Given the description of an element on the screen output the (x, y) to click on. 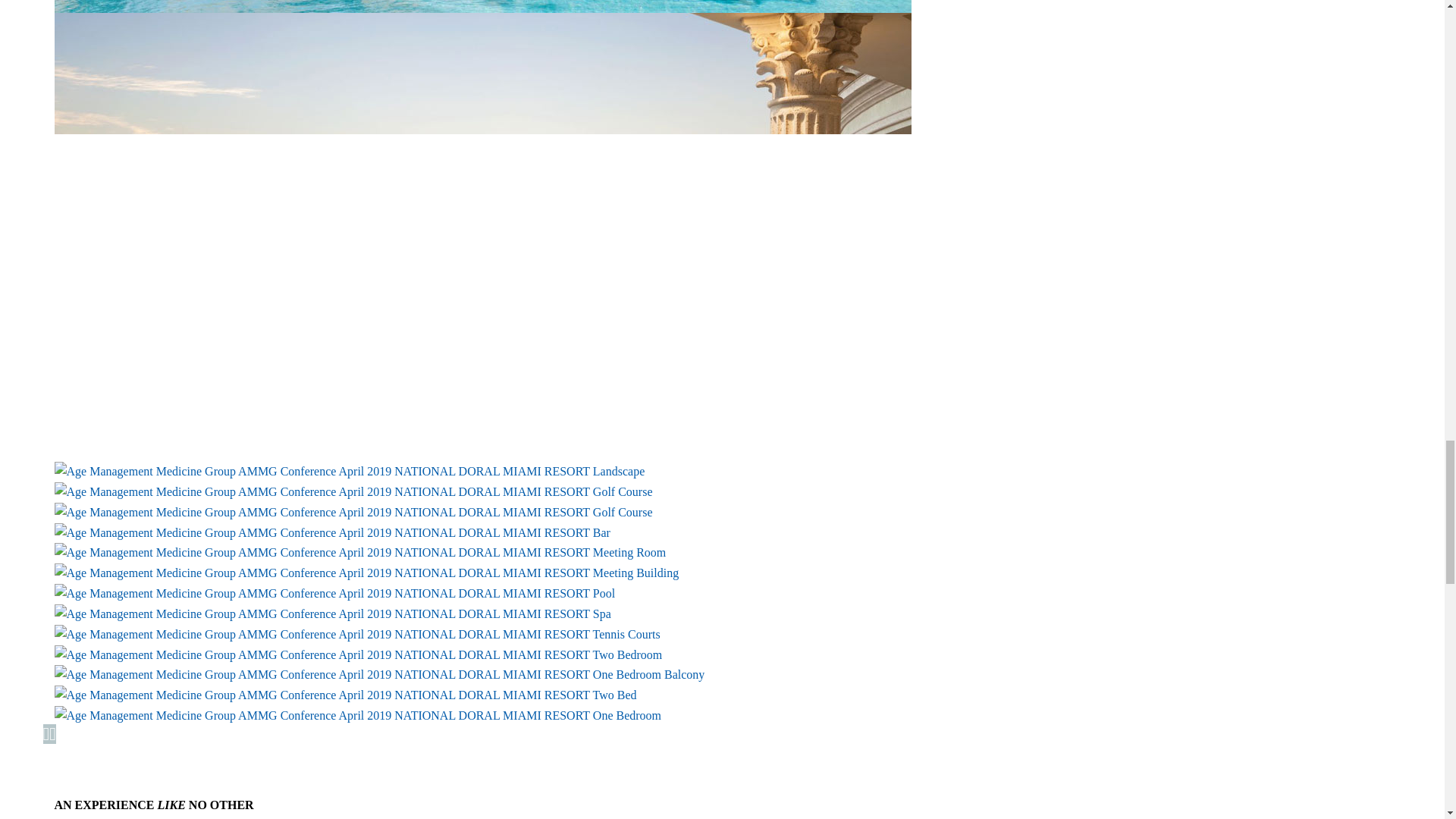
gary-player-villa-national-doral-miami (367, 572)
tennis-courts-national-doral-miami (358, 633)
conferences-at--national-doral-miami (360, 551)
pool-at-national-doral-miami (335, 592)
golfcourse-at-national-doral-miami (353, 511)
large-two-bedroom-national-doral-miami (358, 654)
poolside-bar-national-doral-miami (483, 6)
spa-national-doral-miami (333, 613)
clubhouse-at-night-national-doral-miami (350, 470)
interior-bar-national-doral-miami (332, 532)
